Given the description of an element on the screen output the (x, y) to click on. 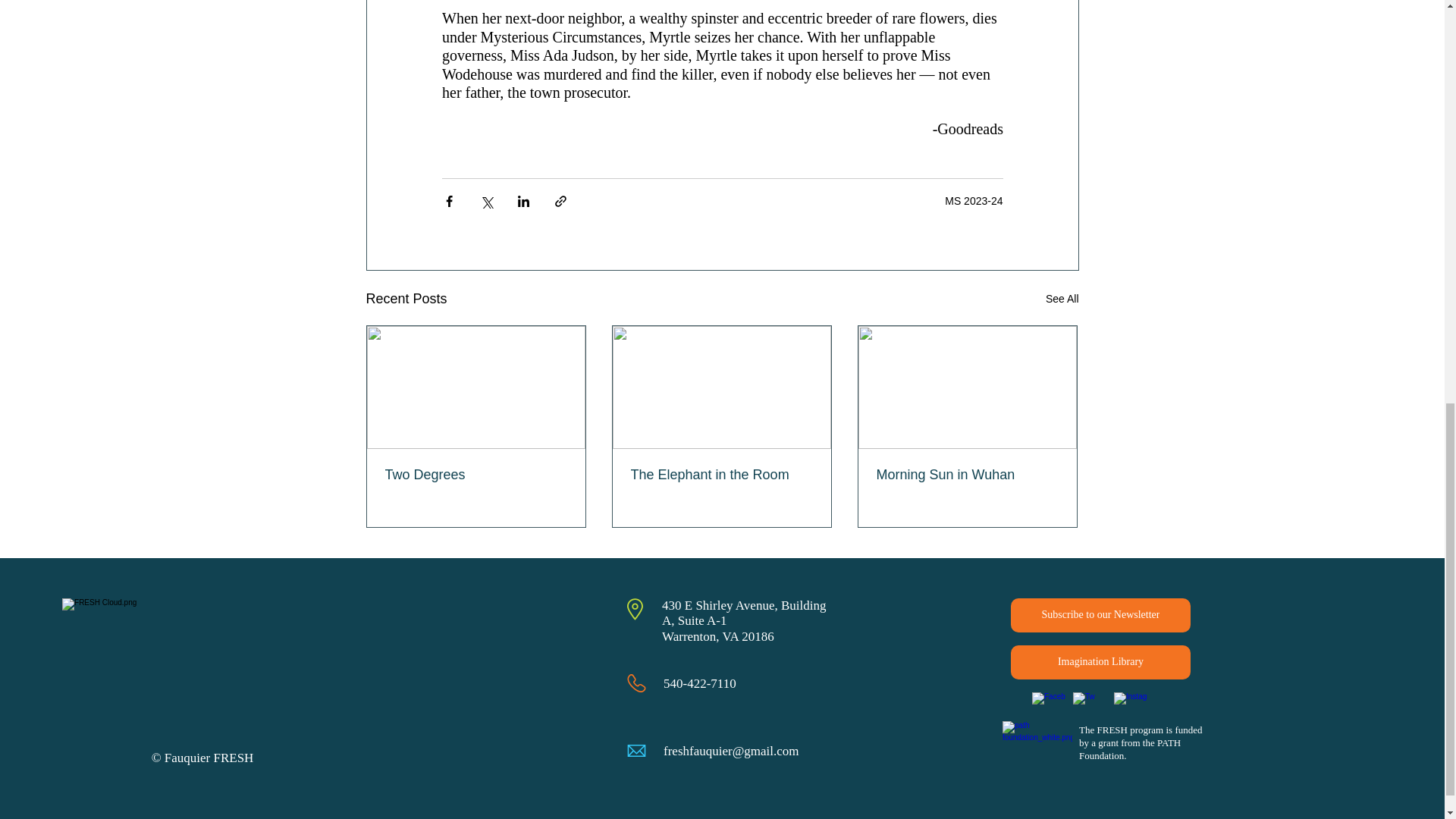
Imagination Library (1100, 662)
540-422-7110 (699, 683)
Morning Sun in Wuhan (967, 474)
Two Degrees (476, 474)
Subscribe to our Newsletter (1100, 615)
MS 2023-24 (973, 200)
The Elephant in the Room (721, 474)
See All (1061, 299)
